Given the description of an element on the screen output the (x, y) to click on. 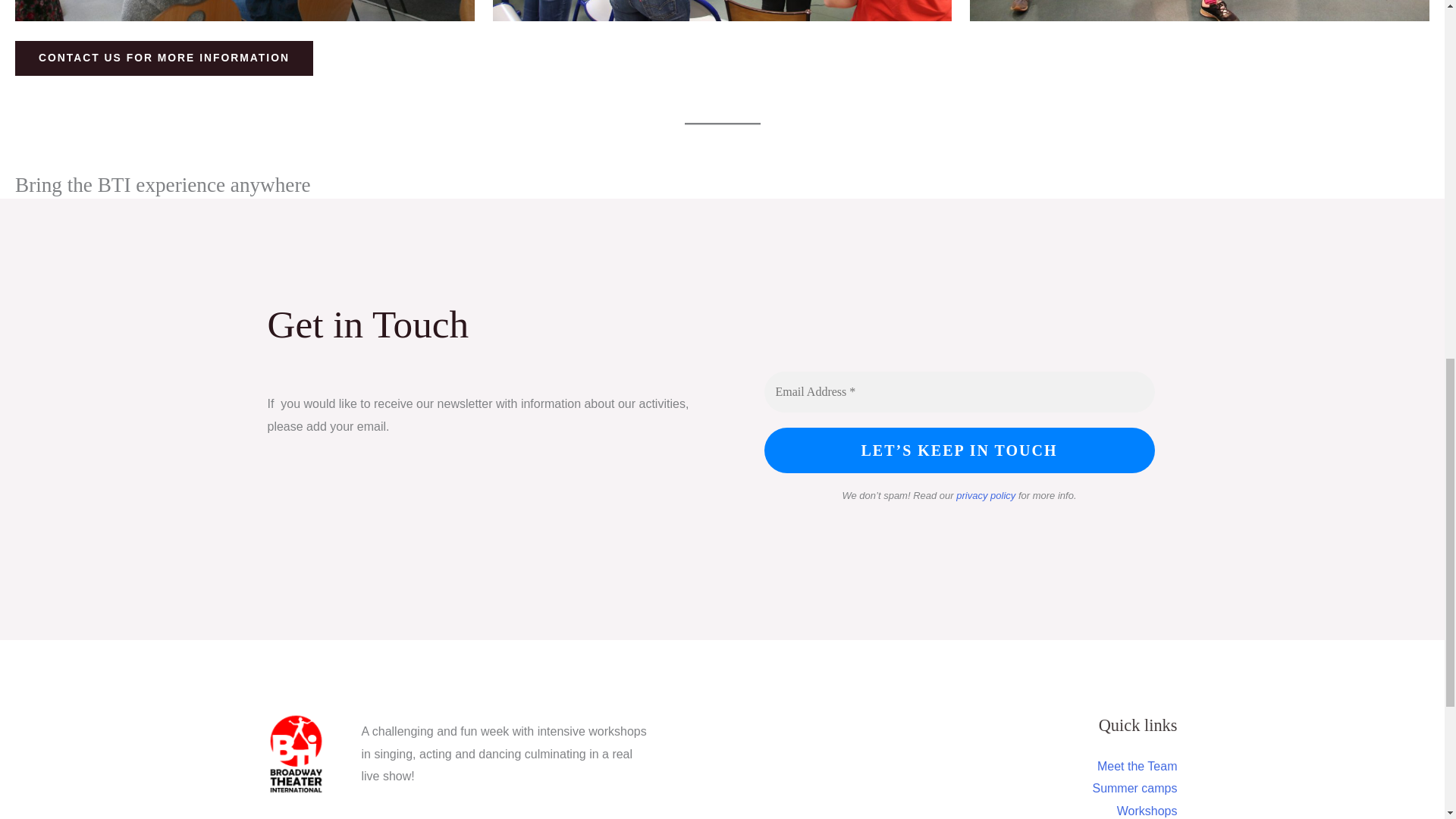
Workshops (1146, 810)
Email Address (959, 391)
CONTACT US FOR MORE INFORMATION (163, 58)
privacy policy (985, 495)
Summer camps (1134, 788)
Meet the Team (1137, 766)
